Given the description of an element on the screen output the (x, y) to click on. 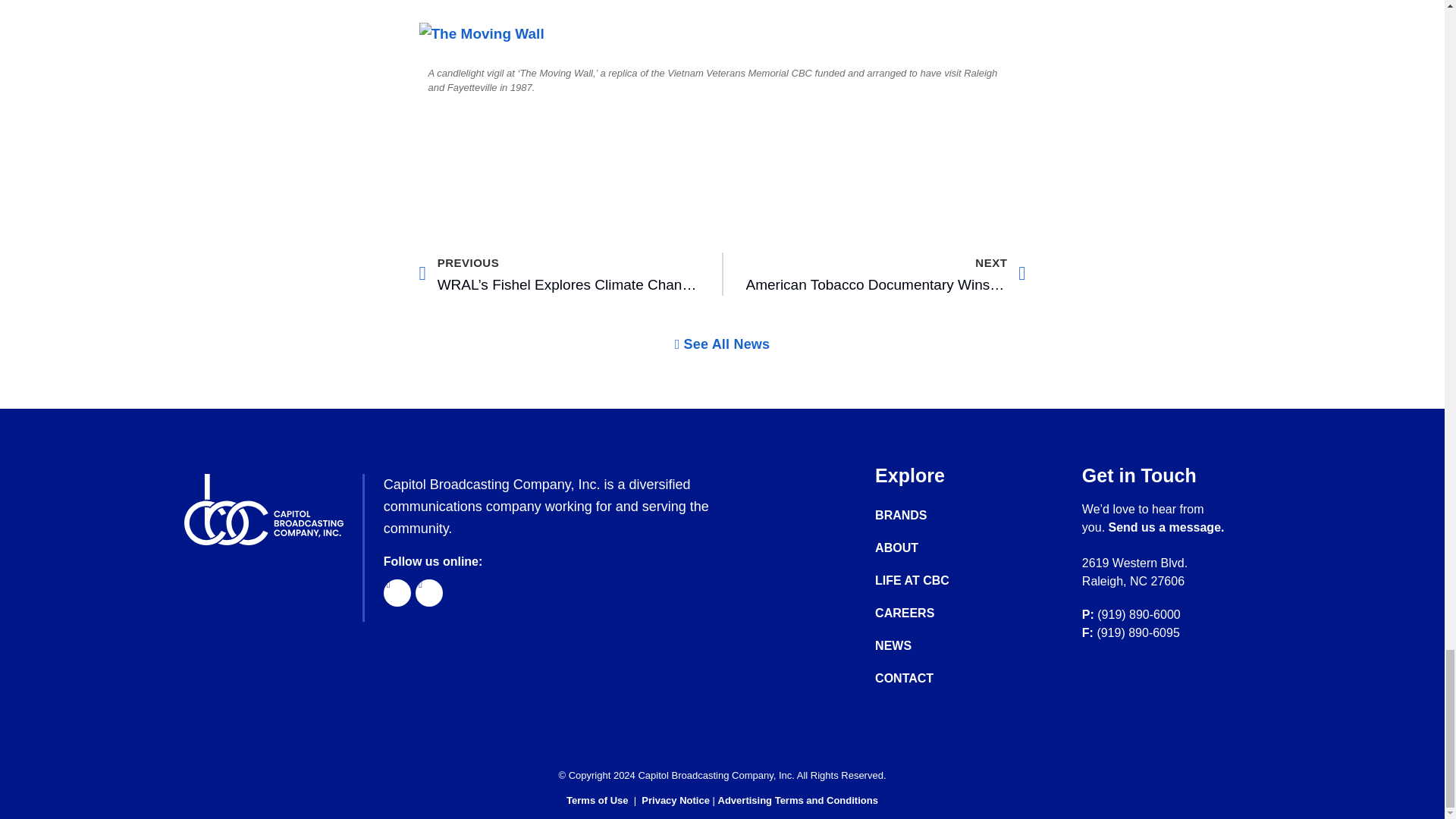
CAREERS (926, 613)
LIFE AT CBC (926, 580)
See All News (722, 344)
ABOUT (926, 548)
CONTACT (926, 678)
BRANDS (926, 515)
NEWS (926, 645)
